Given the description of an element on the screen output the (x, y) to click on. 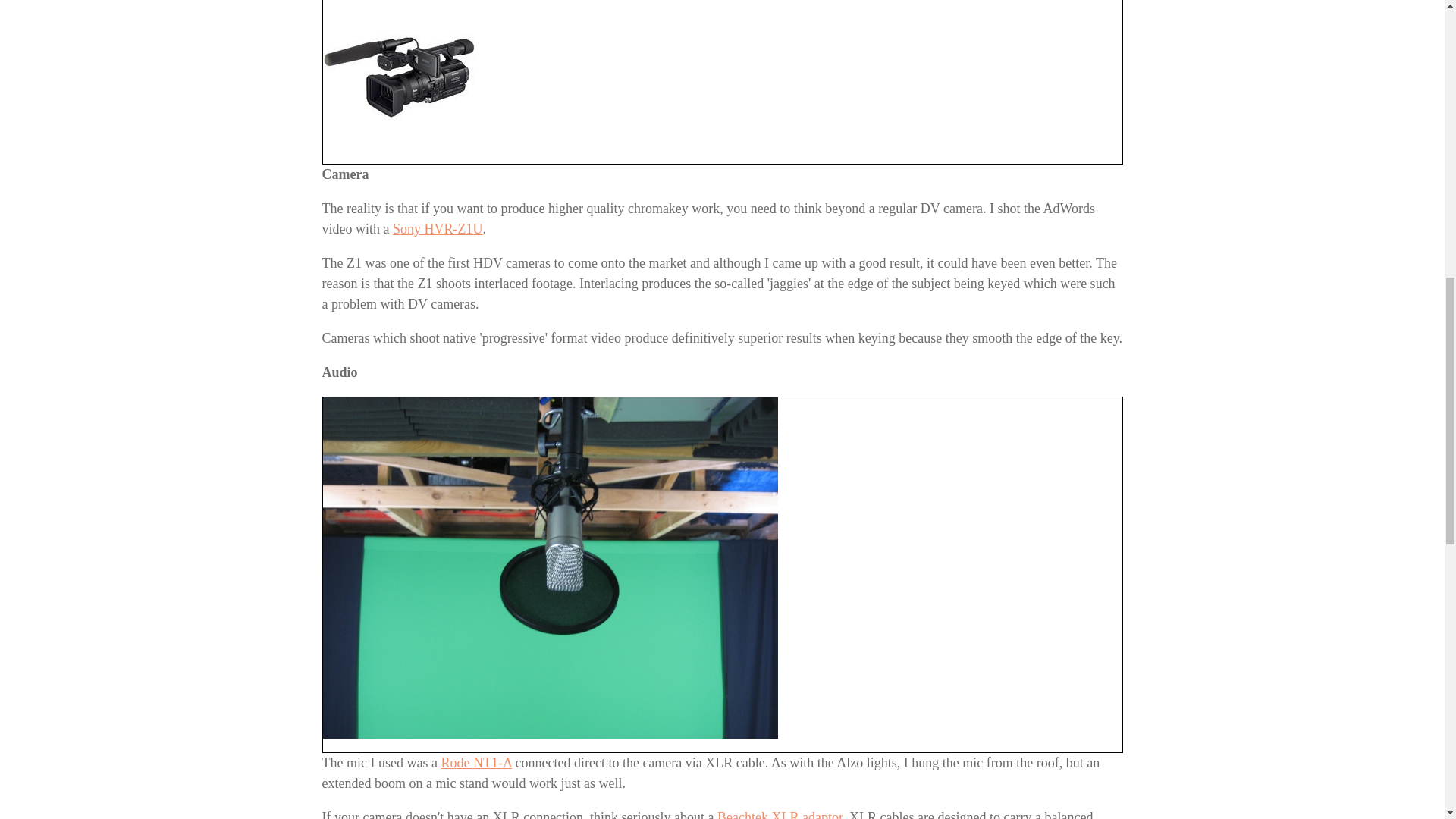
Rode NT1-A (476, 762)
Beachtek XLR adaptor (780, 814)
Sony HVR-Z1U (438, 228)
